Given the description of an element on the screen output the (x, y) to click on. 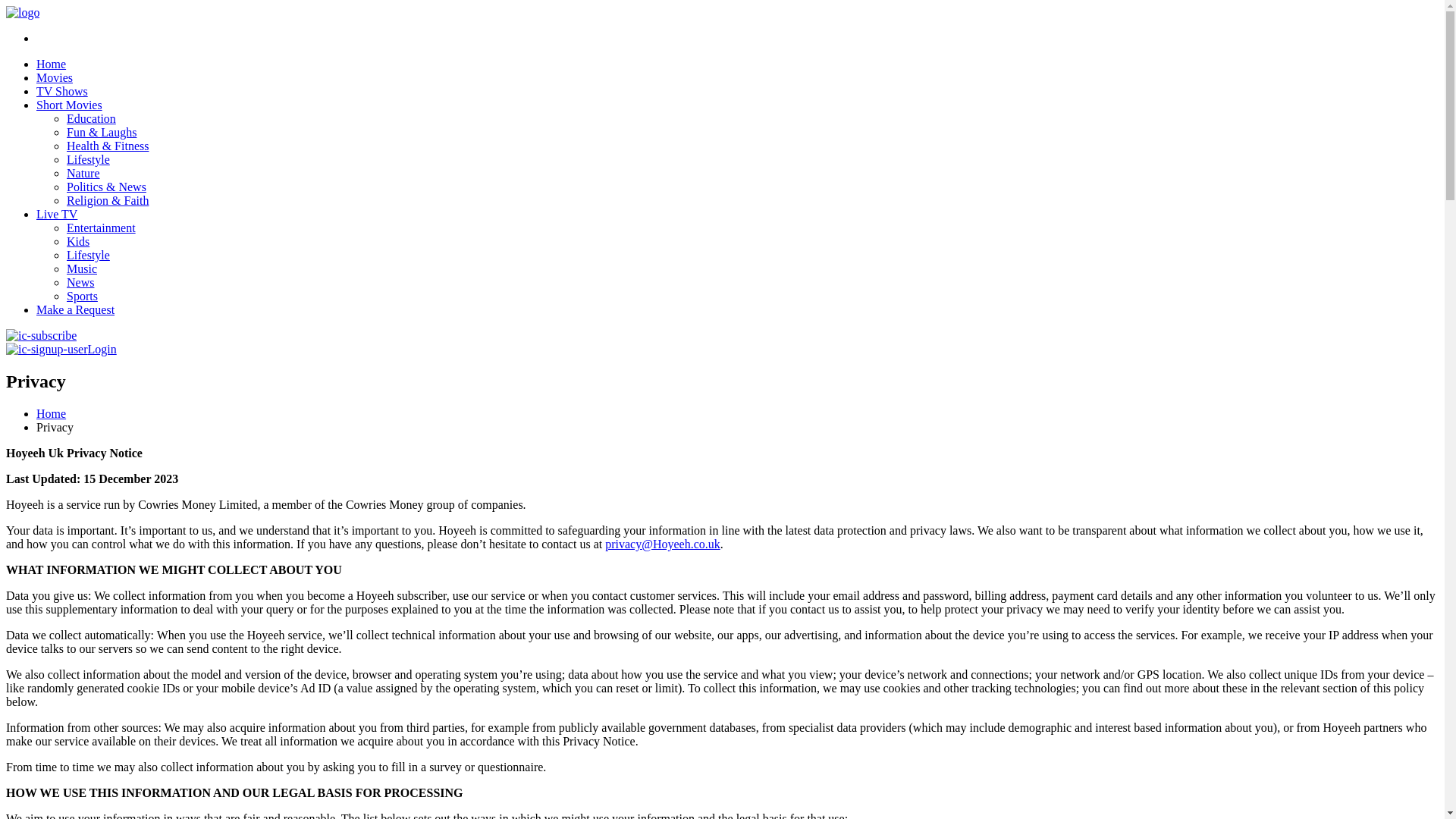
Movies (54, 77)
TV Shows (61, 91)
Home (50, 63)
Entertainment (100, 227)
Music (81, 268)
Lifestyle (88, 159)
Education (91, 118)
News (80, 282)
Home (50, 413)
Make a Request (75, 309)
